Given the description of an element on the screen output the (x, y) to click on. 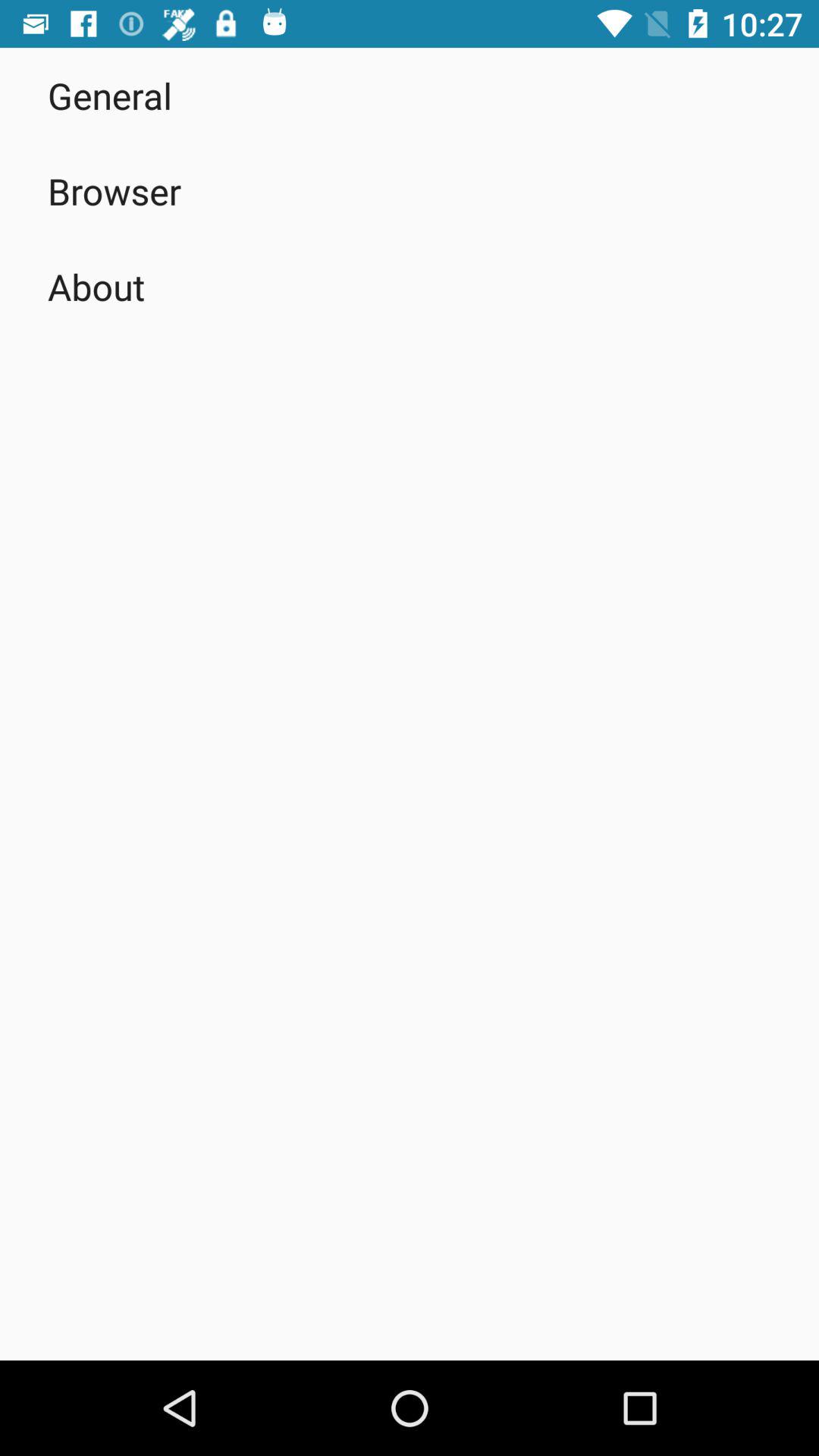
press general app (109, 95)
